Given the description of an element on the screen output the (x, y) to click on. 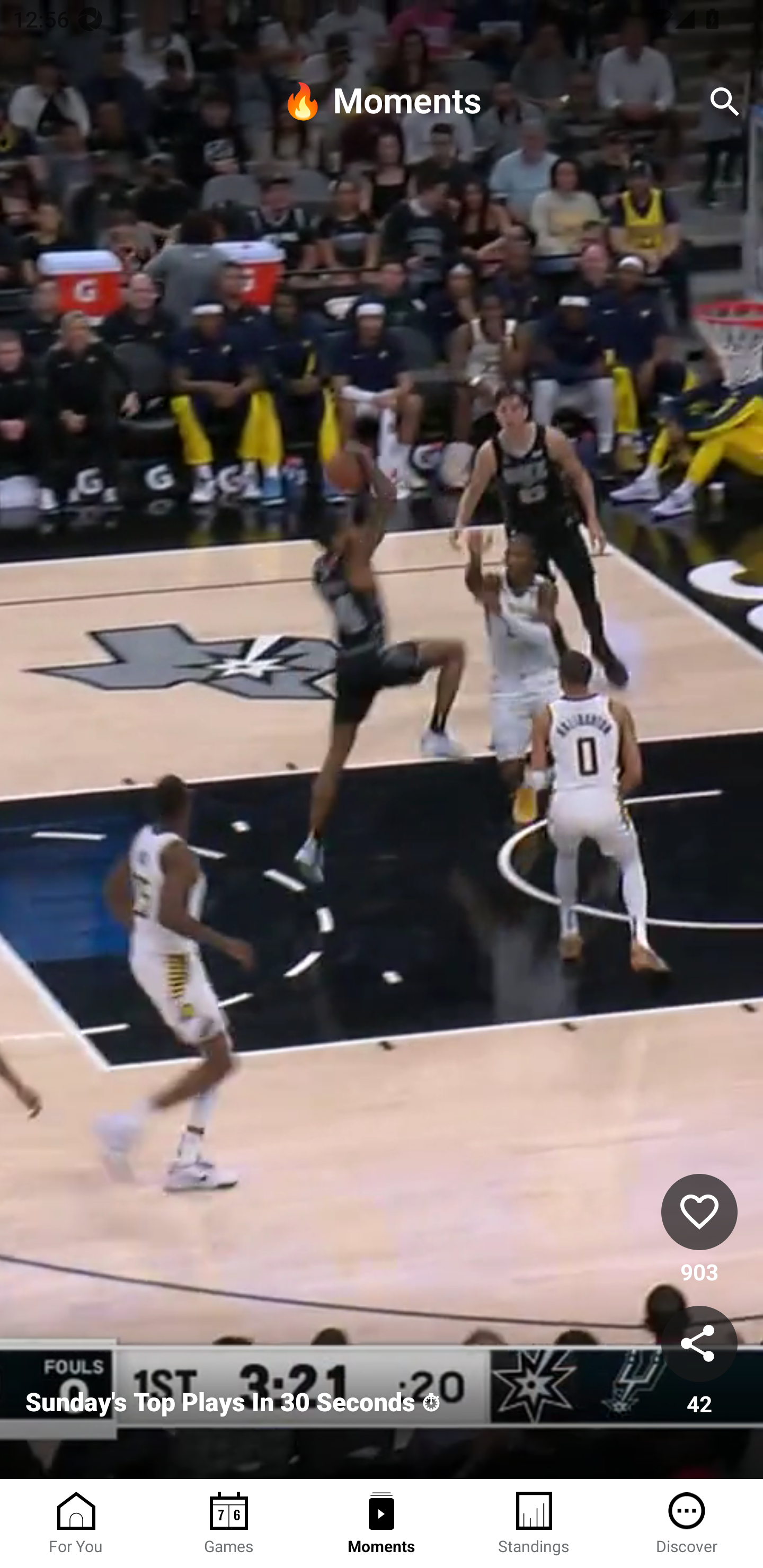
search (724, 101)
like 903 903 Likes (699, 1230)
share 42 42 Shares (699, 1362)
For You (76, 1523)
Games (228, 1523)
Standings (533, 1523)
Discover (686, 1523)
